Given the description of an element on the screen output the (x, y) to click on. 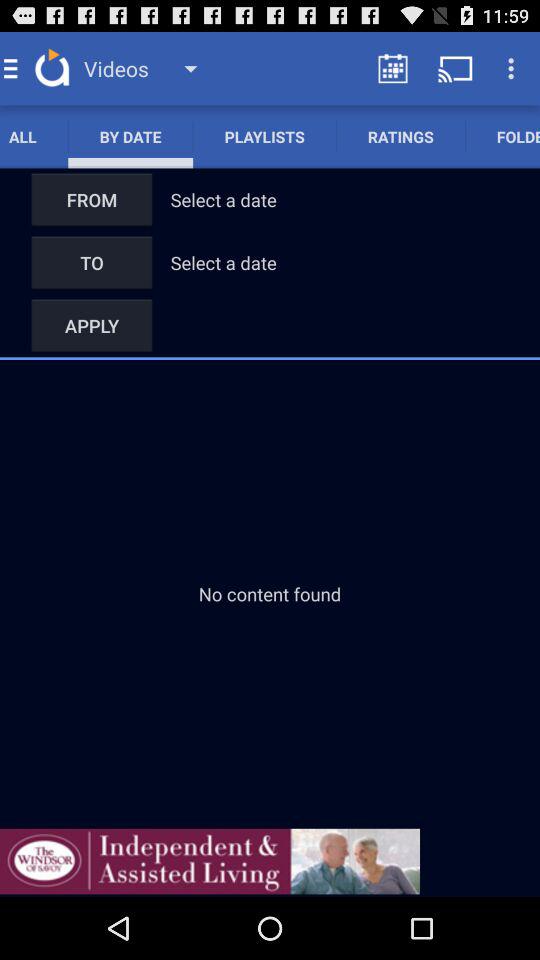
open advertisement (210, 861)
